Given the description of an element on the screen output the (x, y) to click on. 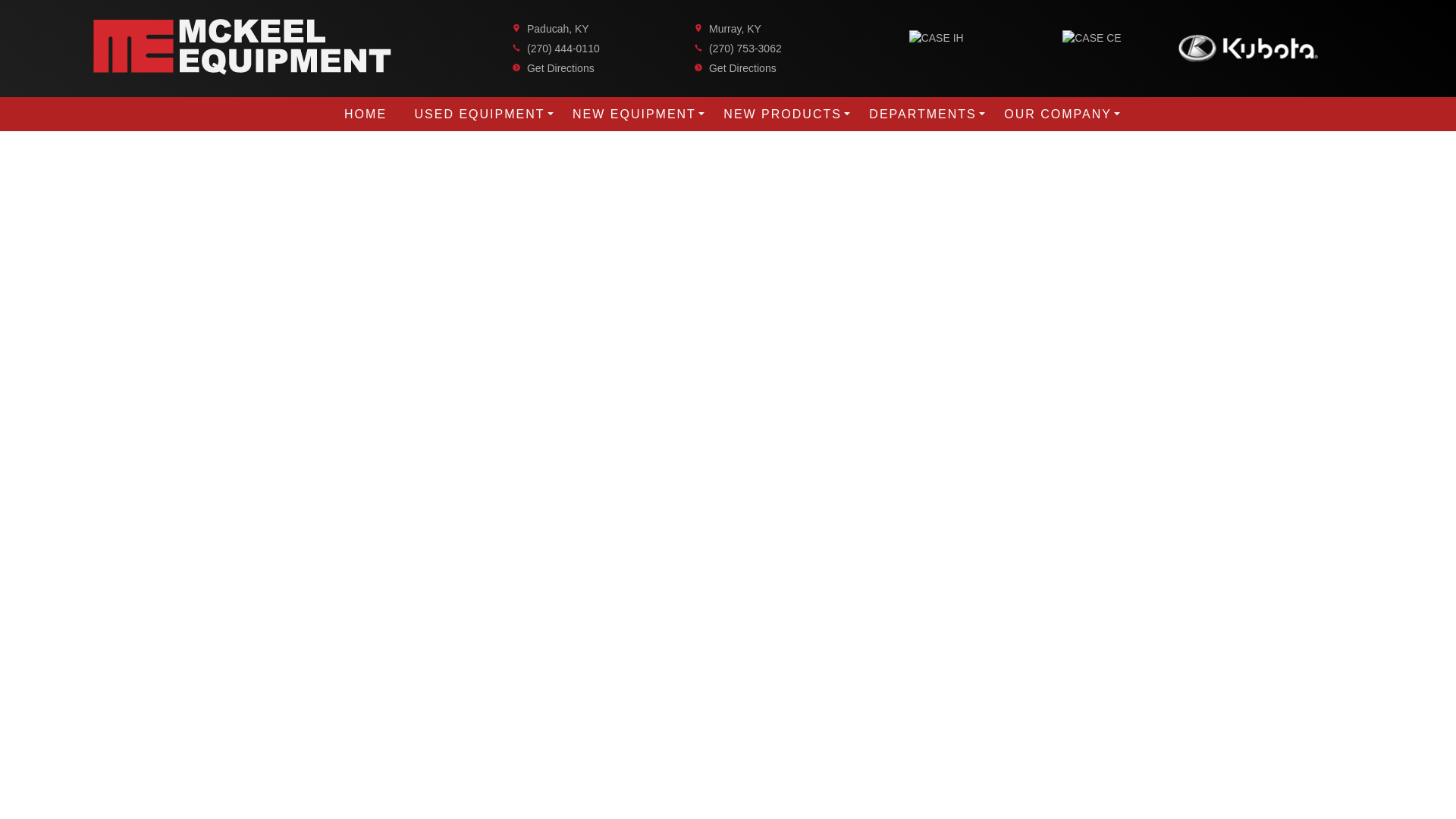
NEW PRODUCTS (782, 114)
CASE IH (935, 37)
McKeel Equipment, Kentucky (242, 46)
CASE CE (1091, 37)
Murray, KY (735, 28)
USED EQUIPMENT (480, 114)
NEW EQUIPMENT (633, 114)
kubota (1247, 45)
HOME (364, 114)
Get Directions (742, 68)
